Given the description of an element on the screen output the (x, y) to click on. 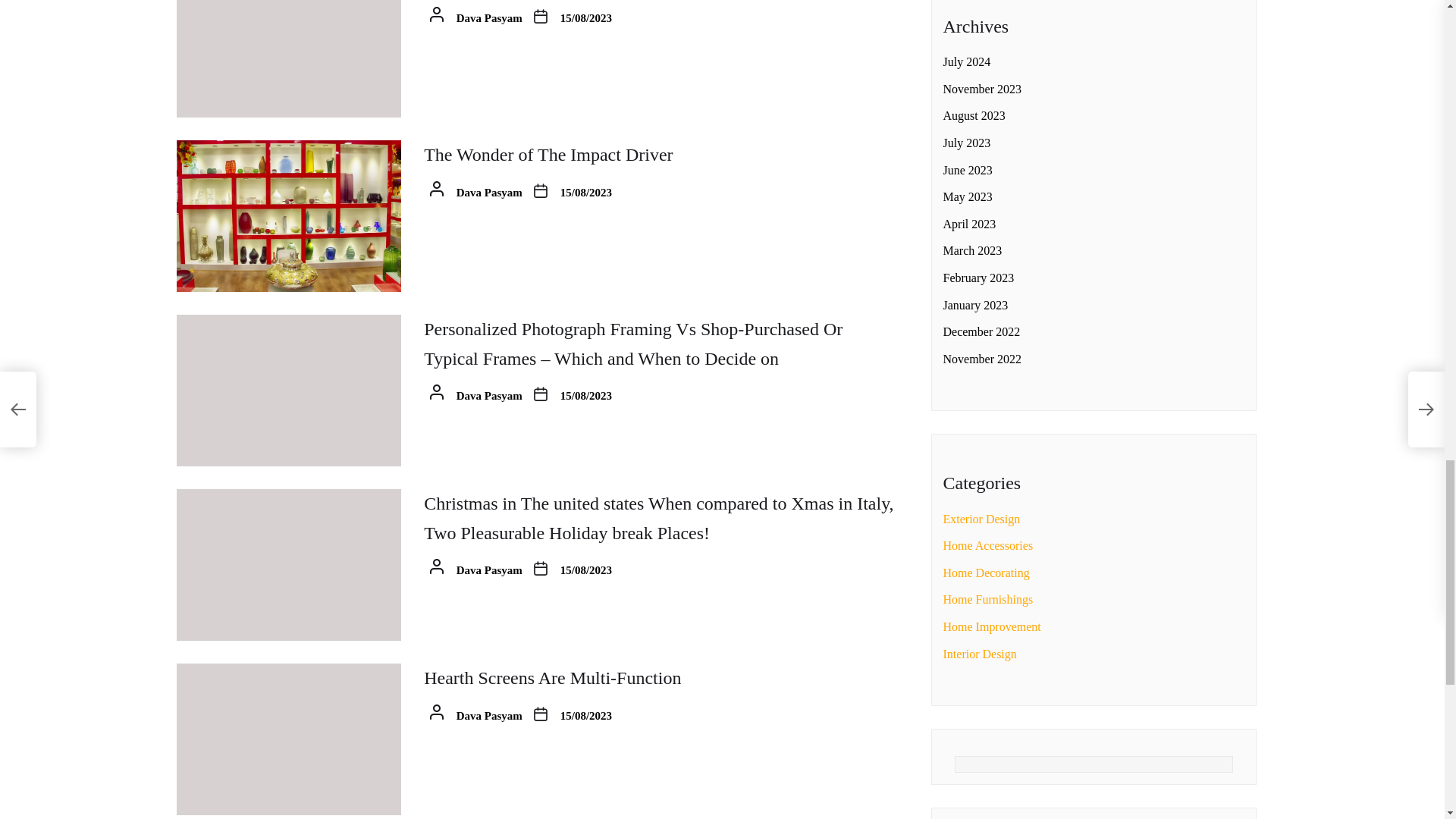
Seedbacklink (1018, 315)
